Given the description of an element on the screen output the (x, y) to click on. 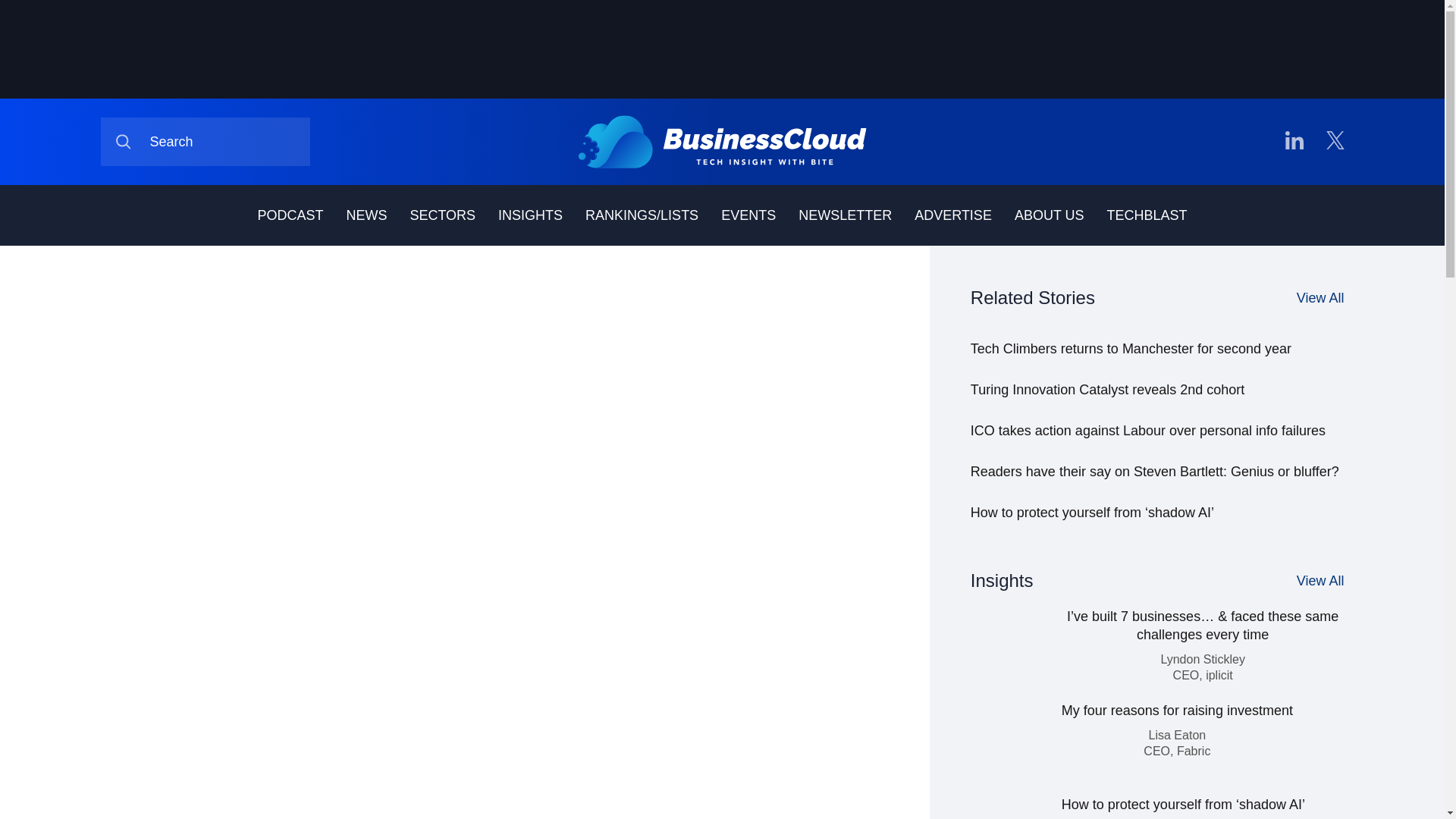
EVENTS (748, 215)
SECTORS (442, 215)
ABOUT US (1049, 215)
NEWS (366, 215)
NEWSLETTER (844, 215)
ADVERTISE (952, 215)
PODCAST (290, 215)
TECHBLAST (1147, 215)
INSIGHTS (529, 215)
Search for: (204, 141)
